Given the description of an element on the screen output the (x, y) to click on. 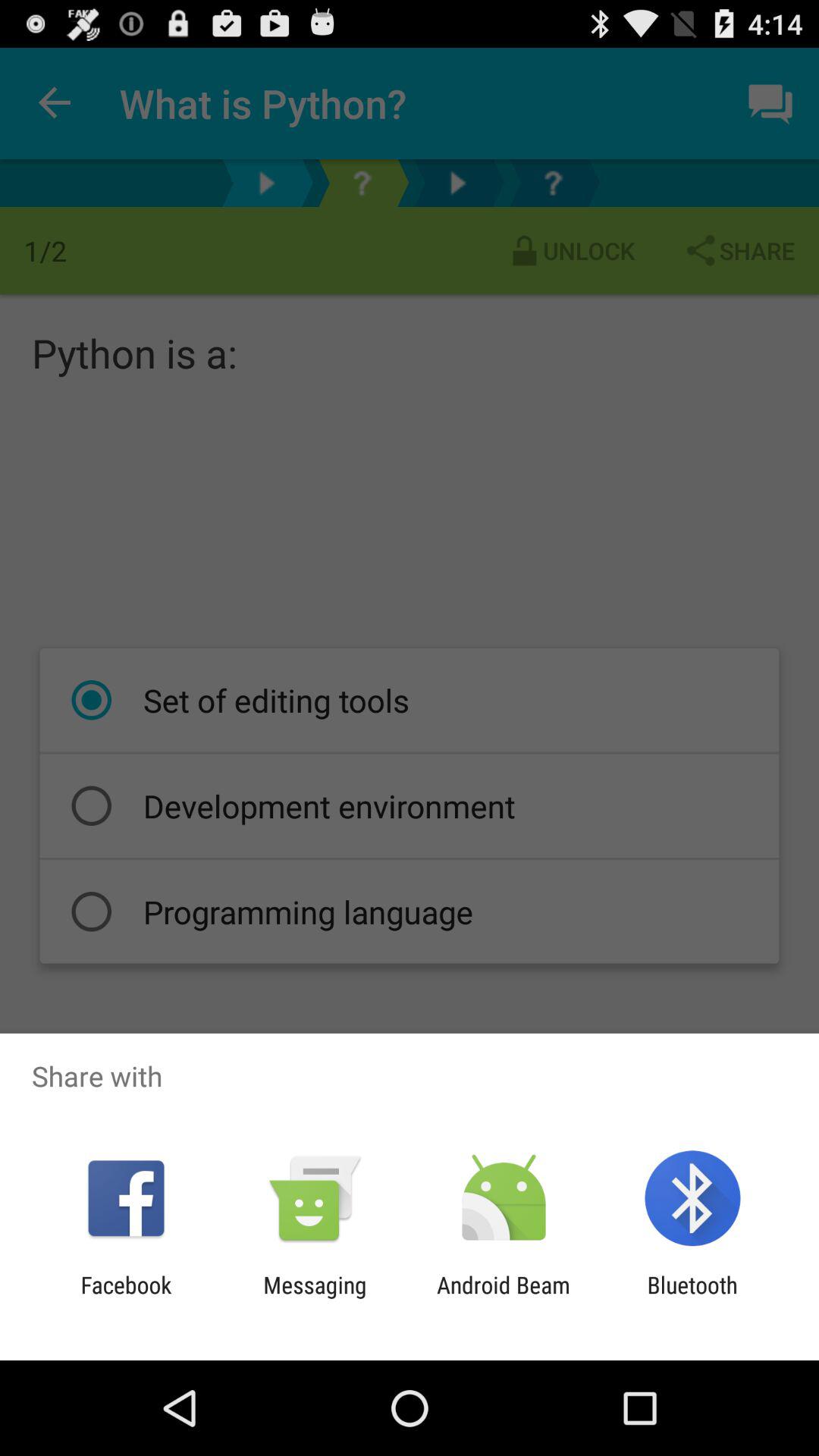
swipe to messaging item (314, 1298)
